Given the description of an element on the screen output the (x, y) to click on. 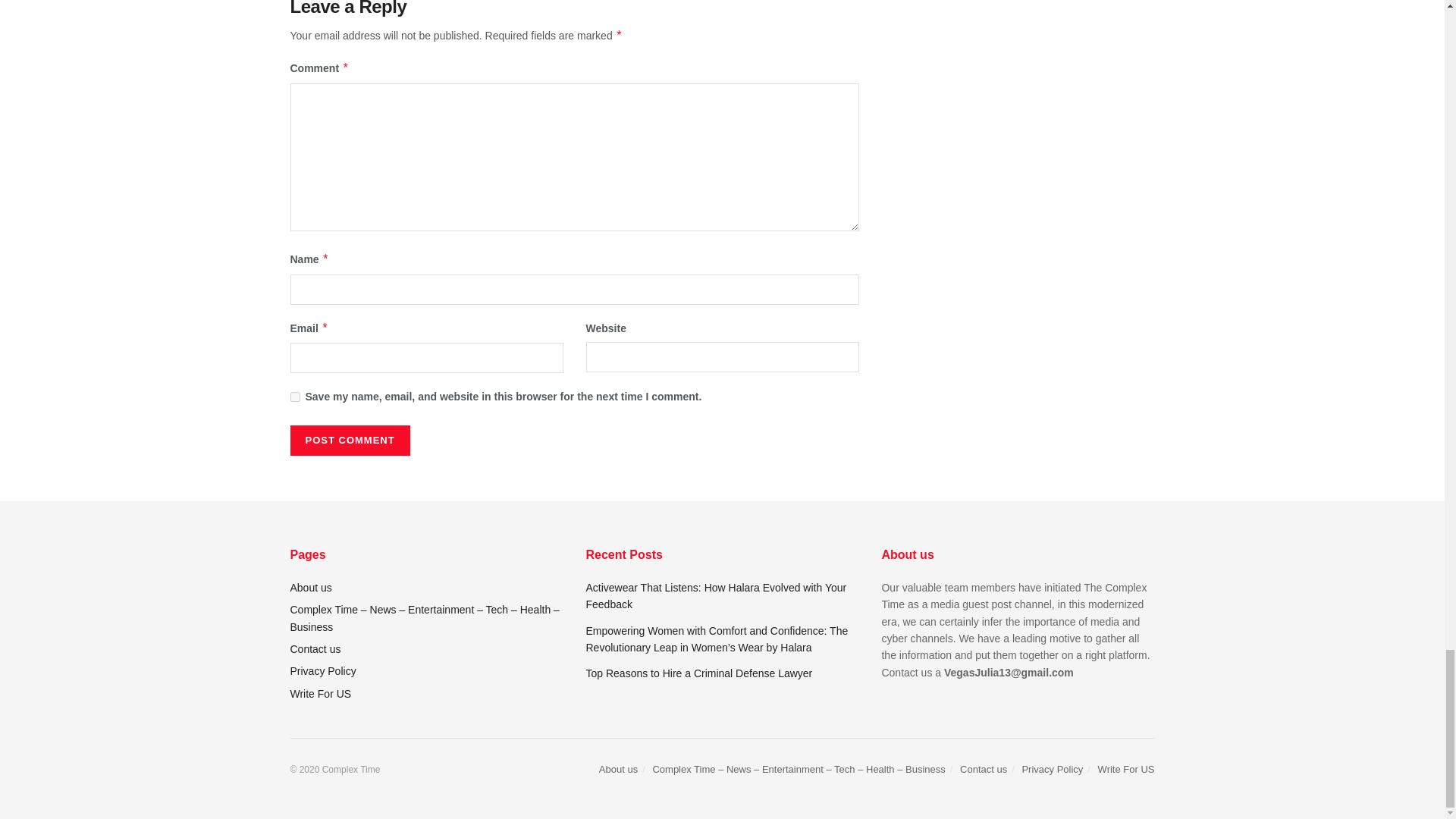
Post Comment (349, 440)
yes (294, 397)
